Given the description of an element on the screen output the (x, y) to click on. 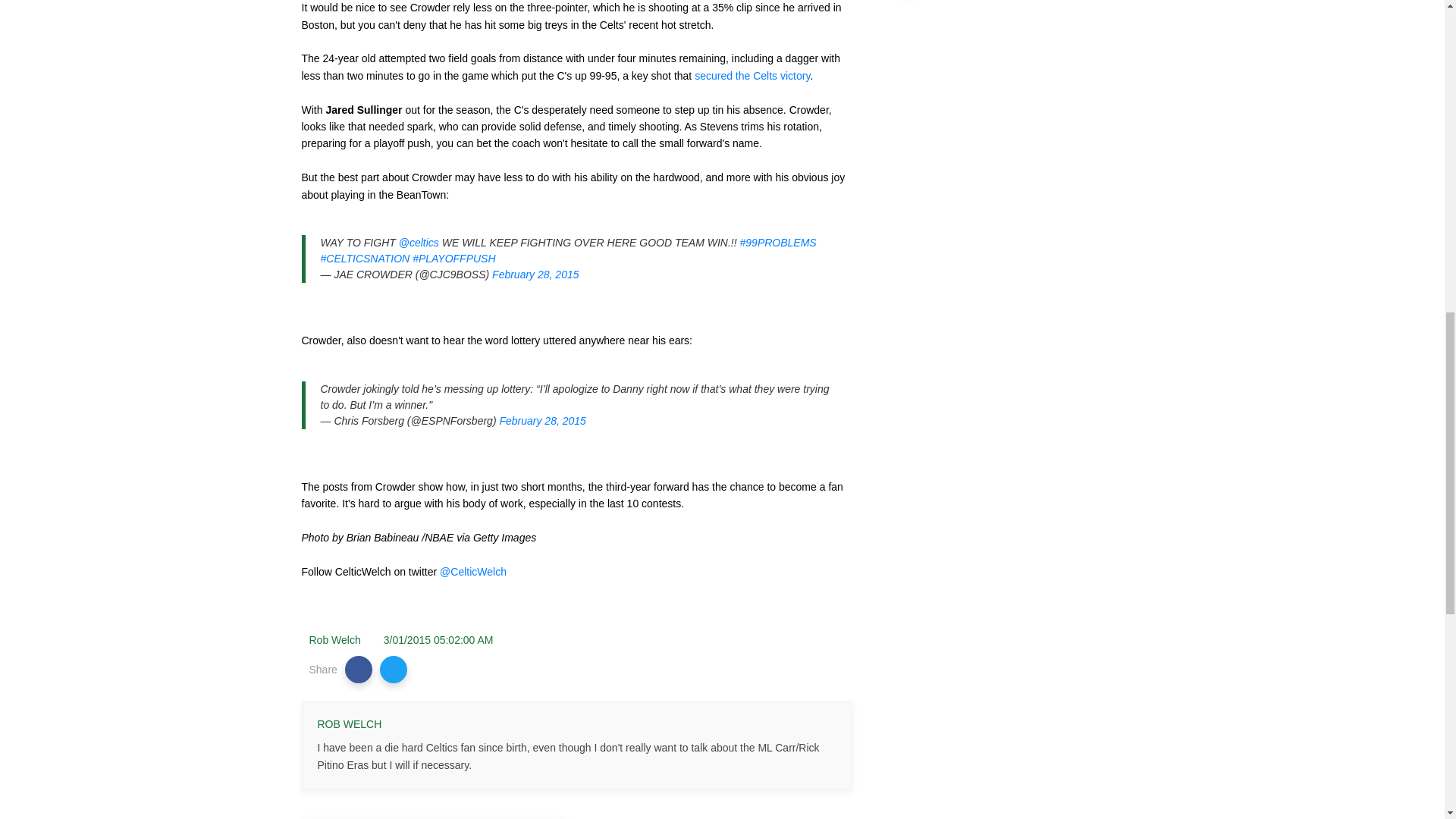
Share to Twitter (393, 669)
author profile (349, 724)
permanent link (438, 639)
author profile (334, 639)
February 28, 2015 (535, 274)
ROB WELCH (349, 724)
secured the Celts victory (751, 75)
Rob Welch (334, 639)
February 28, 2015 (542, 420)
Share to Facebook (358, 669)
